Given the description of an element on the screen output the (x, y) to click on. 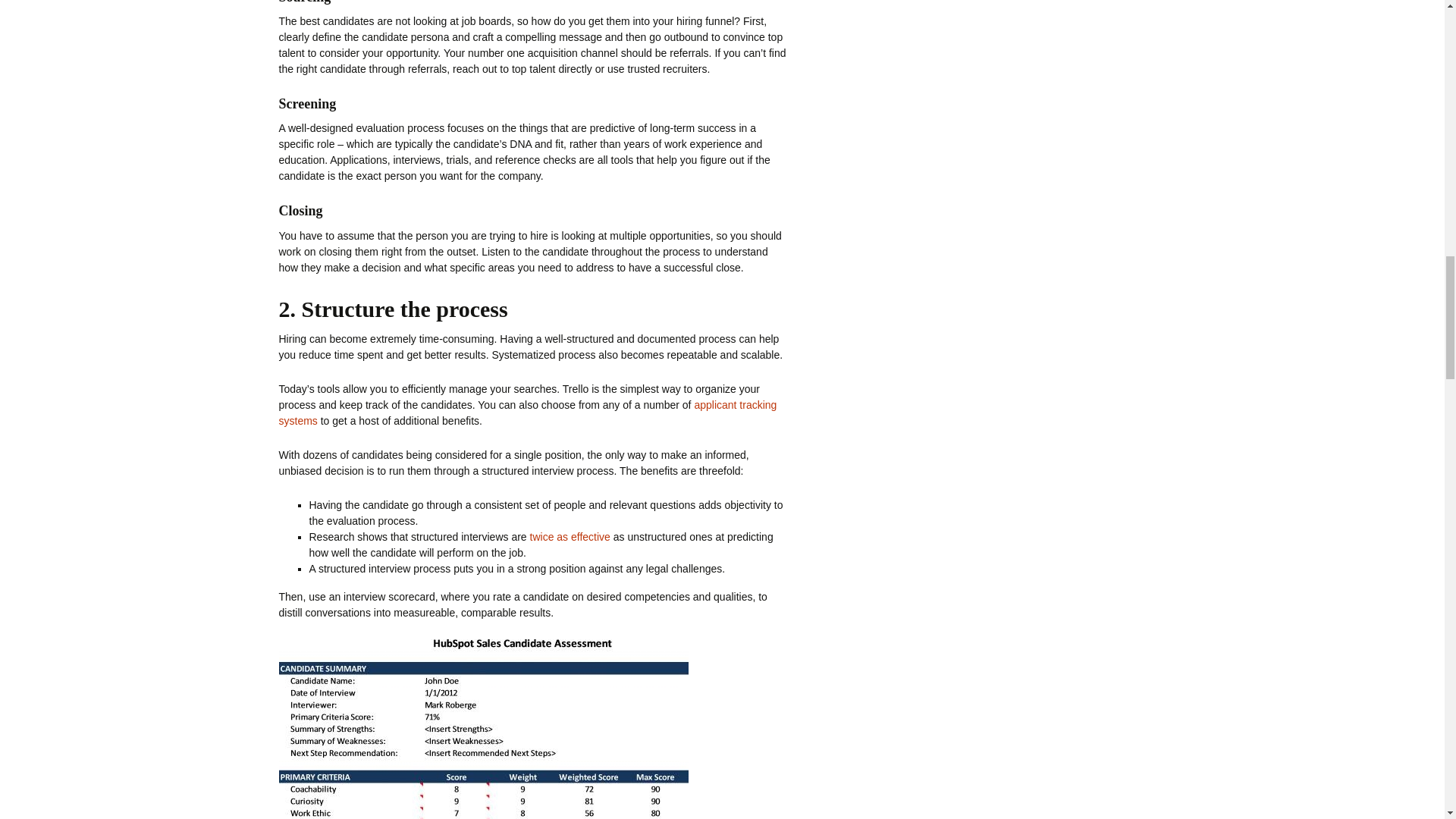
applicant tracking systems (528, 412)
twice as effective (569, 536)
